Given the description of an element on the screen output the (x, y) to click on. 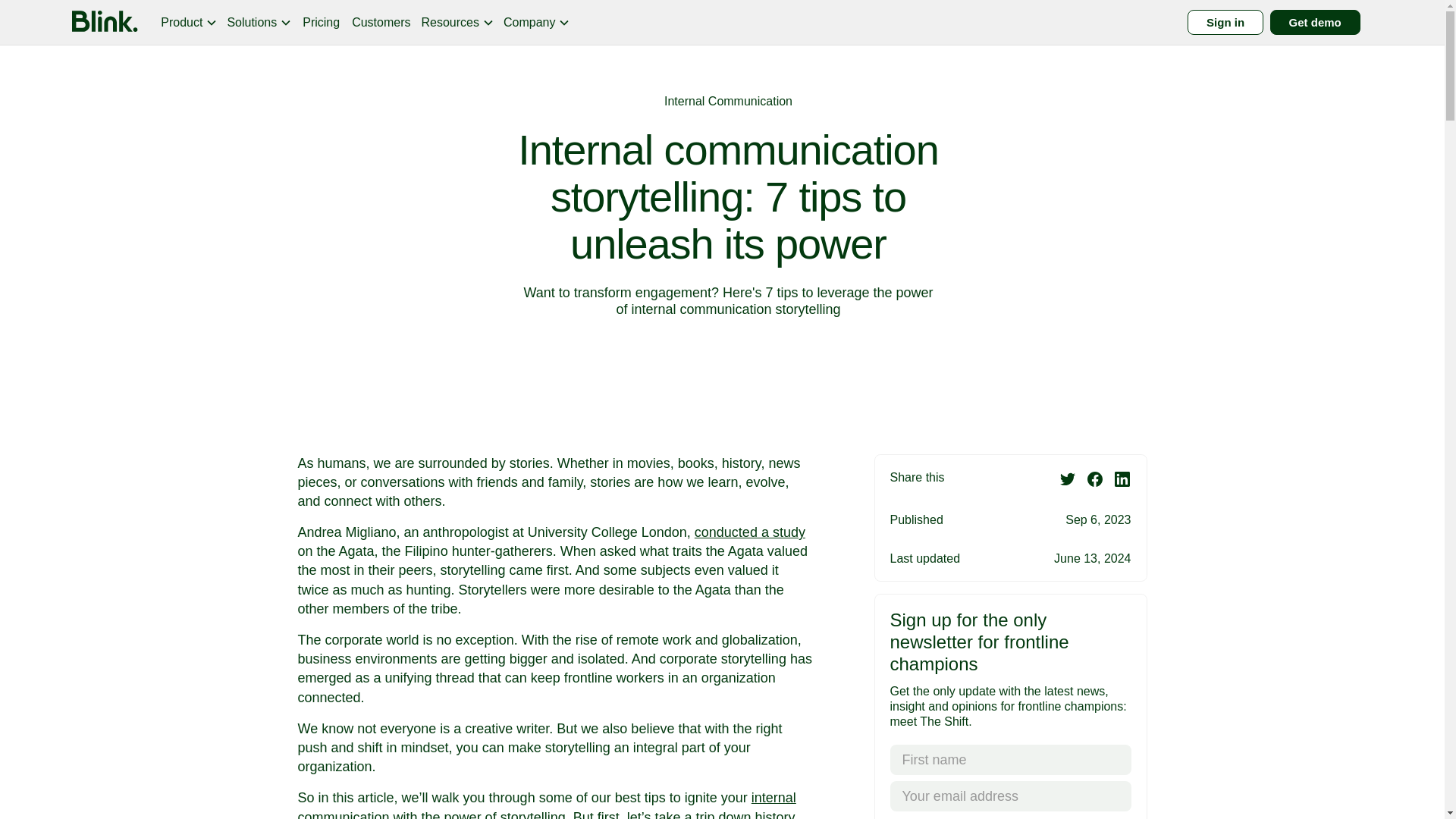
conducted a study (749, 531)
internal communication (545, 804)
Pricing (321, 22)
Customers (381, 22)
Get demo (1314, 22)
Sign in (1225, 22)
